Given the description of an element on the screen output the (x, y) to click on. 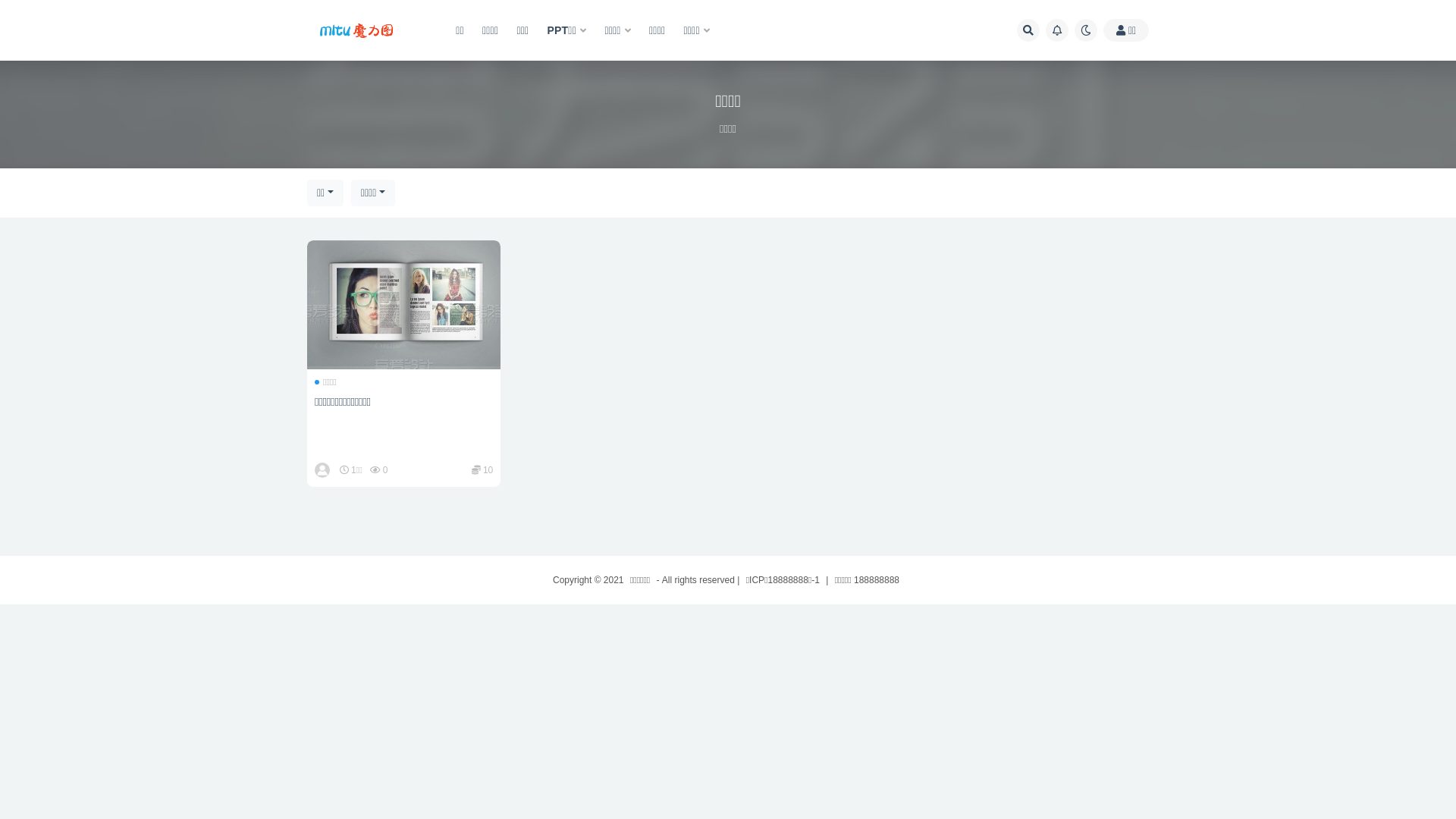
mltu Element type: hover (323, 469)
